Given the description of an element on the screen output the (x, y) to click on. 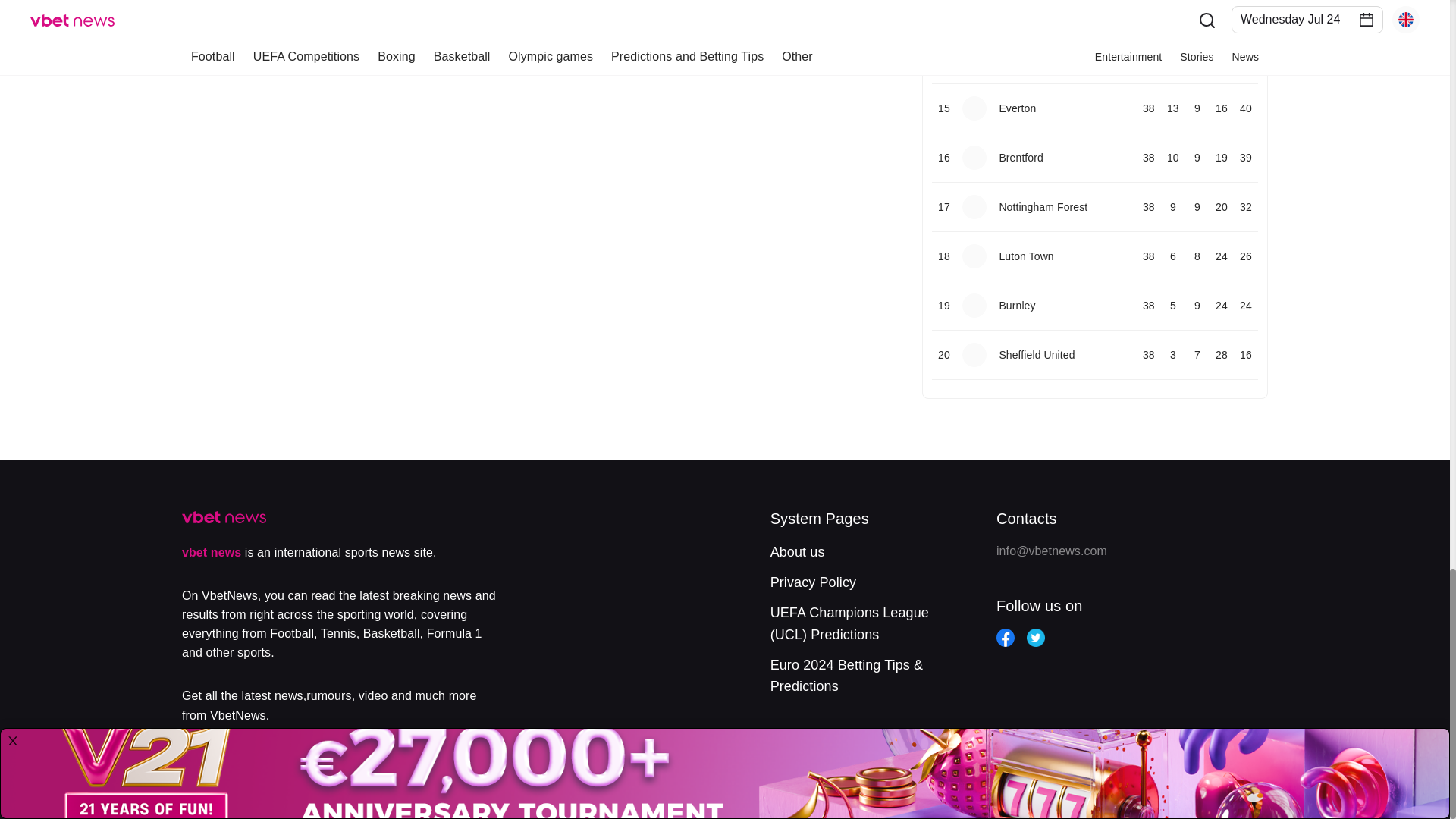
About us (797, 551)
Privacy Policy (813, 581)
vbet news (211, 552)
